Given the description of an element on the screen output the (x, y) to click on. 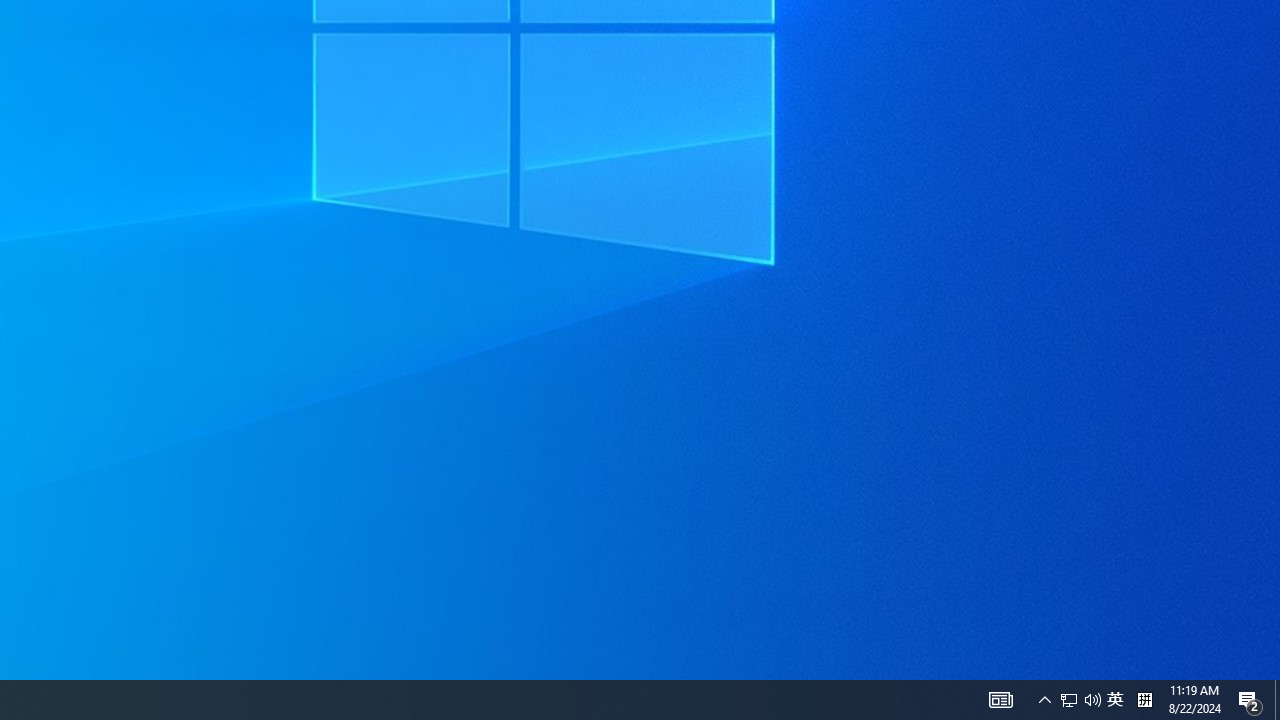
Show desktop (1277, 699)
User Promoted Notification Area (1080, 699)
Notification Chevron (1069, 699)
Q2790: 100% (1044, 699)
AutomationID: 4105 (1092, 699)
Action Center, 2 new notifications (1000, 699)
Tray Input Indicator - Chinese (Simplified, China) (1115, 699)
